Given the description of an element on the screen output the (x, y) to click on. 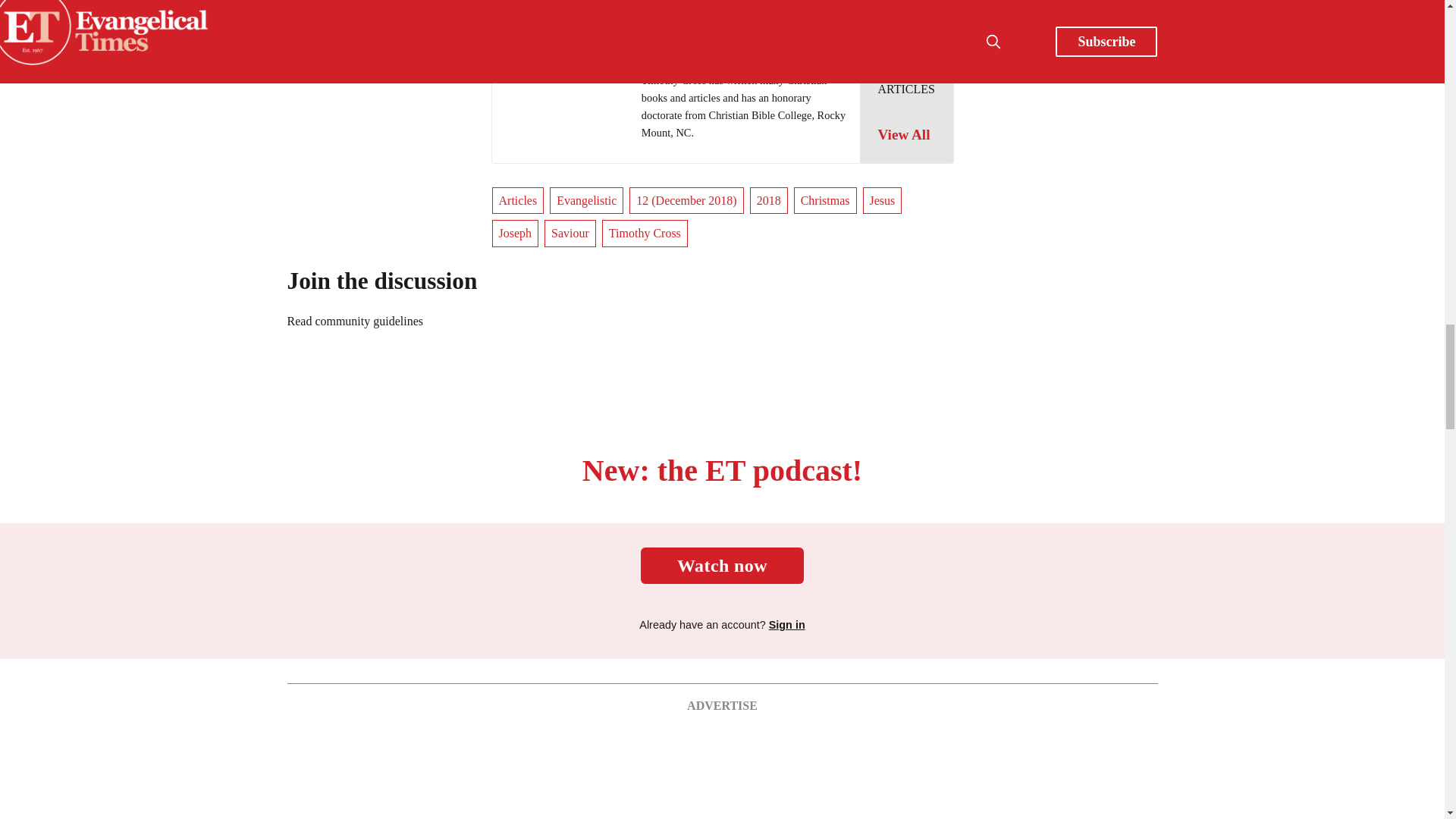
2018 (768, 200)
View All (905, 135)
Jesus (882, 200)
Evangelistic (586, 200)
Articles (517, 200)
Saviour (569, 233)
Timothy Cross (679, 58)
